Given the description of an element on the screen output the (x, y) to click on. 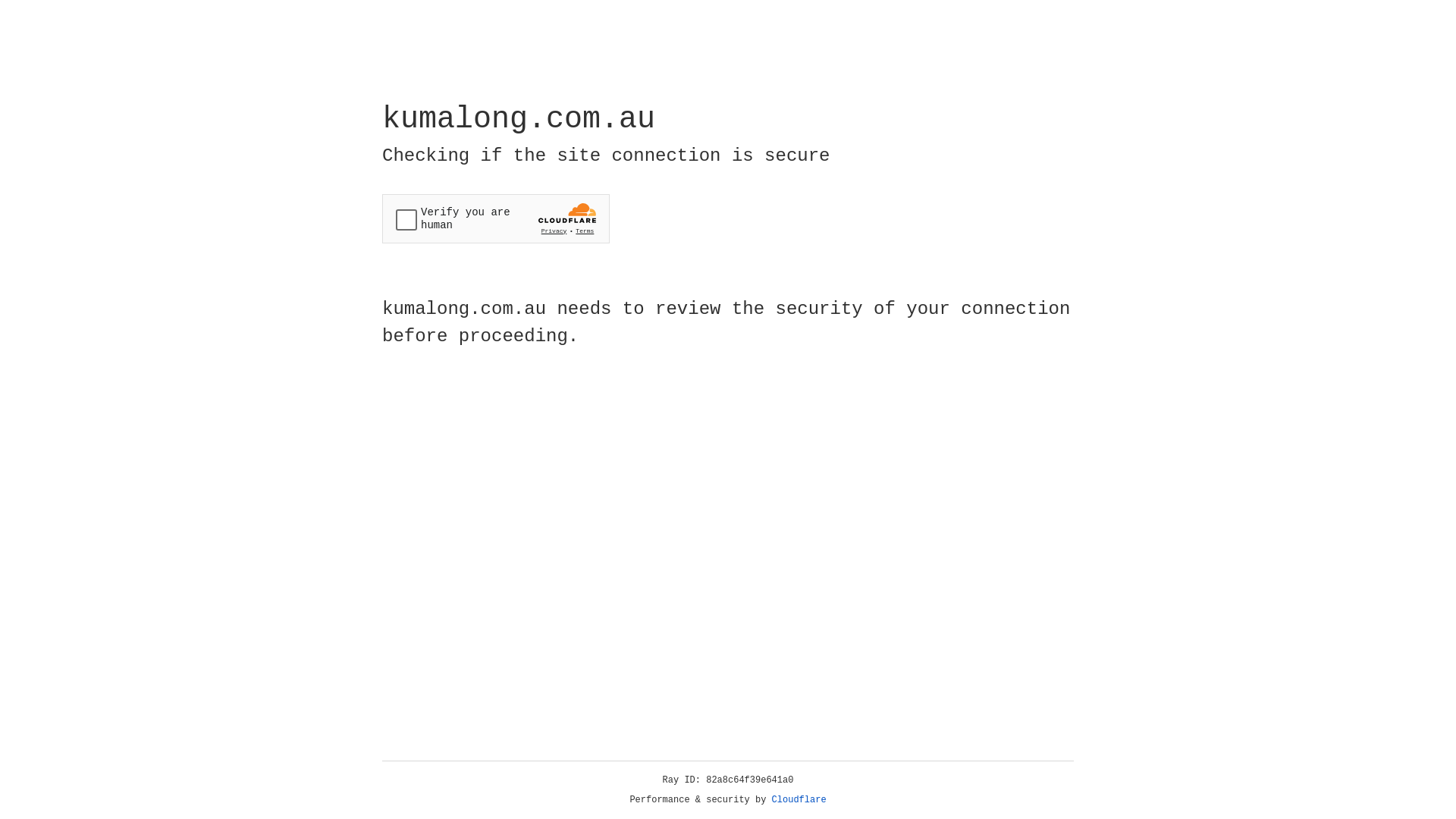
Widget containing a Cloudflare security challenge Element type: hover (495, 218)
Cloudflare Element type: text (798, 799)
